Given the description of an element on the screen output the (x, y) to click on. 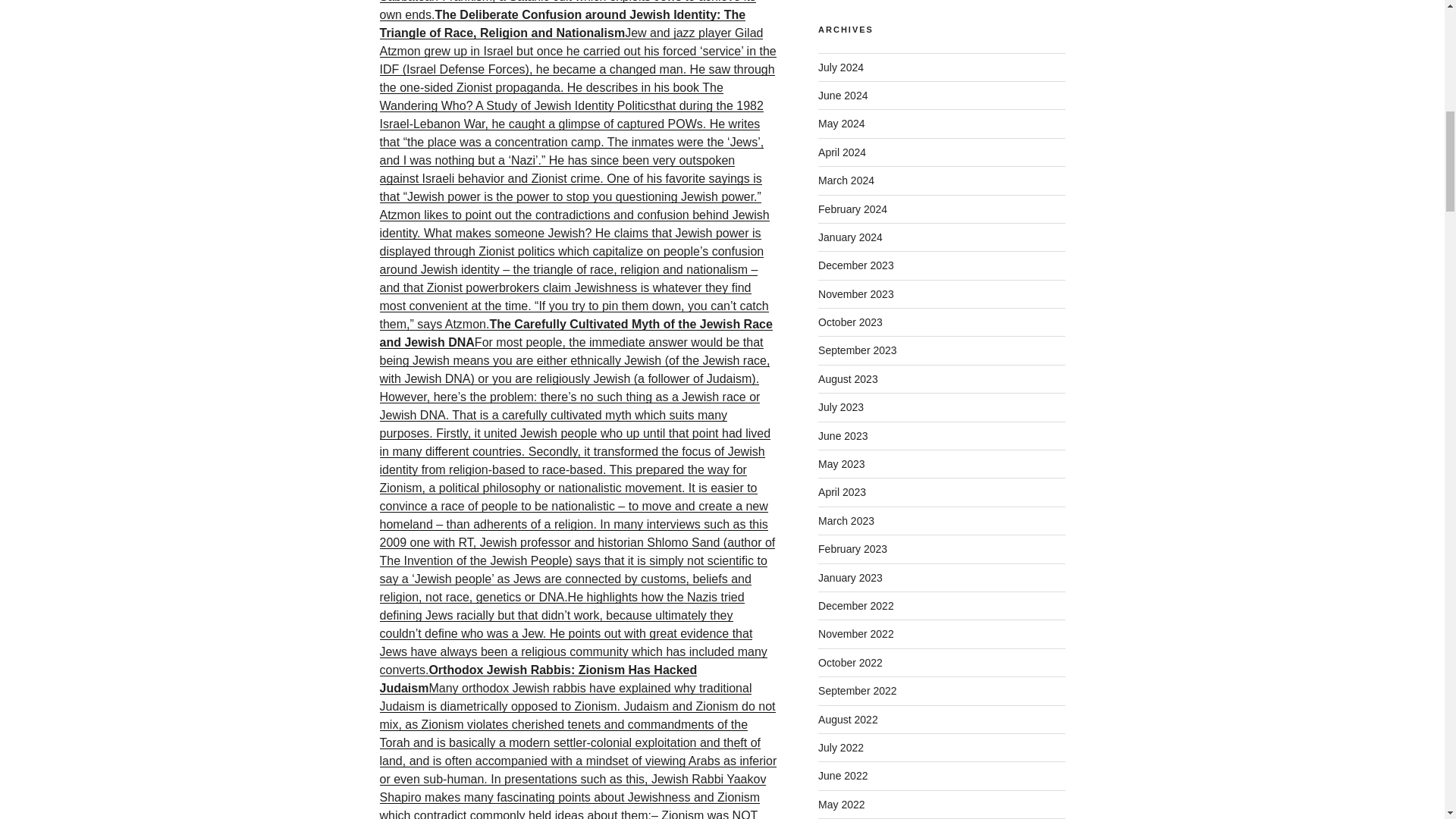
August 2023 (847, 378)
April 2024 (842, 152)
May 2024 (841, 123)
October 2023 (850, 322)
March 2024 (846, 180)
February 2024 (852, 209)
July 2024 (840, 67)
November 2023 (855, 294)
September 2023 (857, 349)
June 2024 (842, 95)
December 2023 (855, 265)
January 2024 (850, 236)
